Given the description of an element on the screen output the (x, y) to click on. 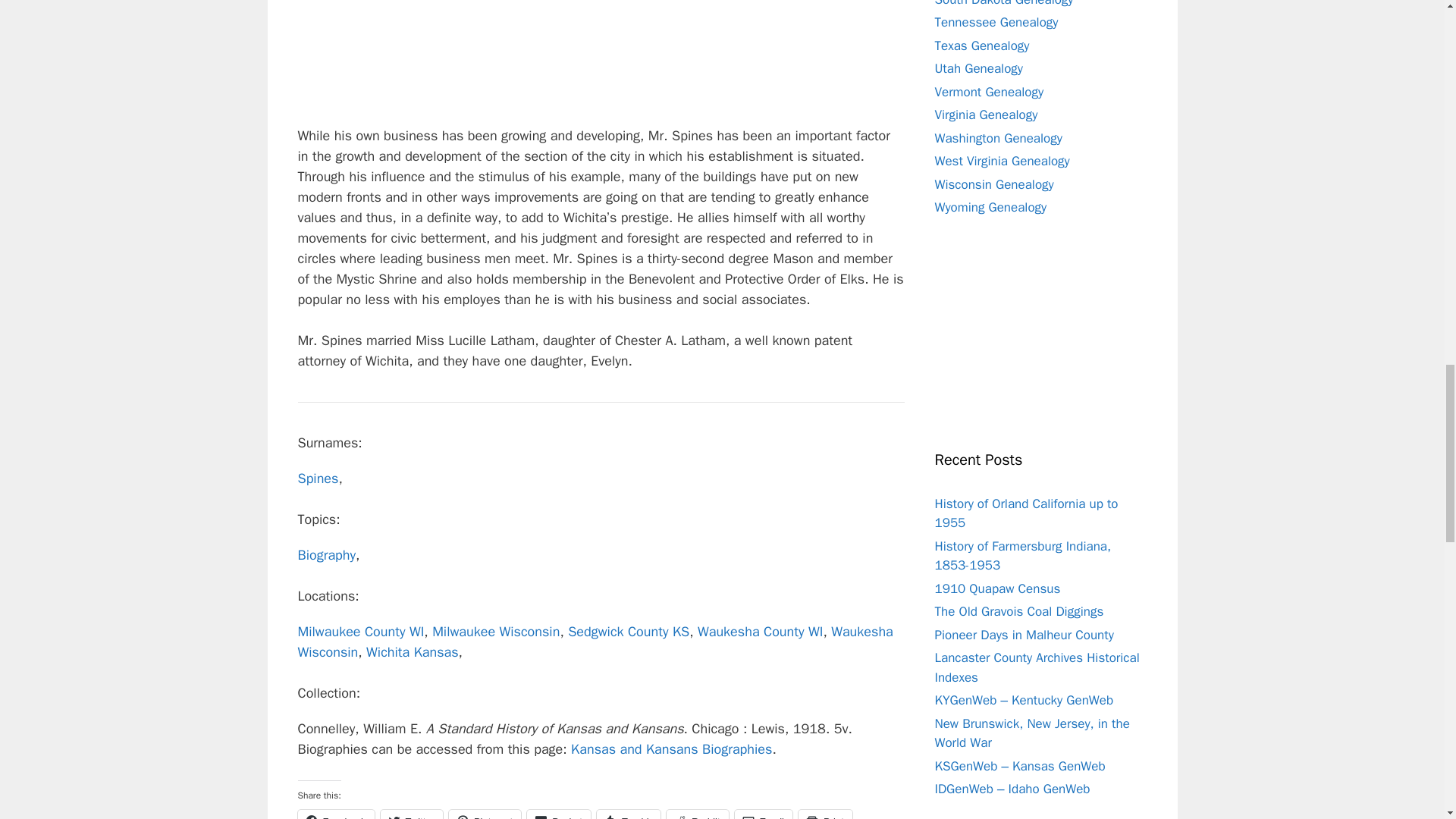
Advertisement (600, 63)
Waukesha County WI (759, 631)
Kansas and Kansans Biographies (670, 749)
Wichita Kansas (412, 651)
Waukesha Wisconsin (594, 641)
Email (762, 814)
Pinterest (484, 814)
Kansas and Kansans Biographies (670, 749)
Facebook (335, 814)
Print (824, 814)
